Given the description of an element on the screen output the (x, y) to click on. 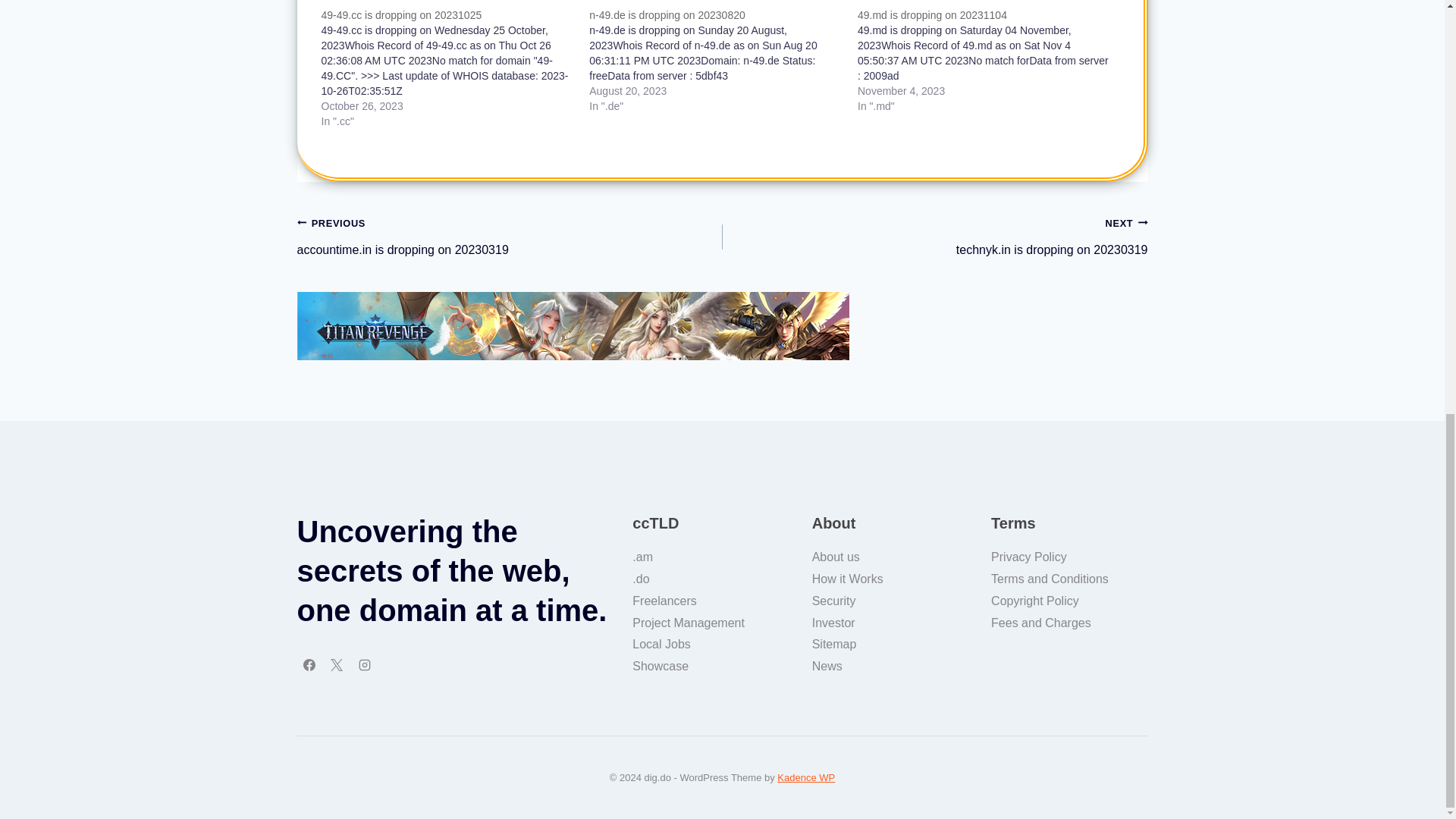
n-49.de is dropping on 20230820 (667, 15)
49.md is dropping on 20231104 (932, 15)
49-49.cc is dropping on 20231025 (455, 67)
n-49.de is dropping on 20230820 (723, 60)
49-49.cc is dropping on 20231025 (401, 15)
49.md is dropping on 20231104 (991, 60)
